Given the description of an element on the screen output the (x, y) to click on. 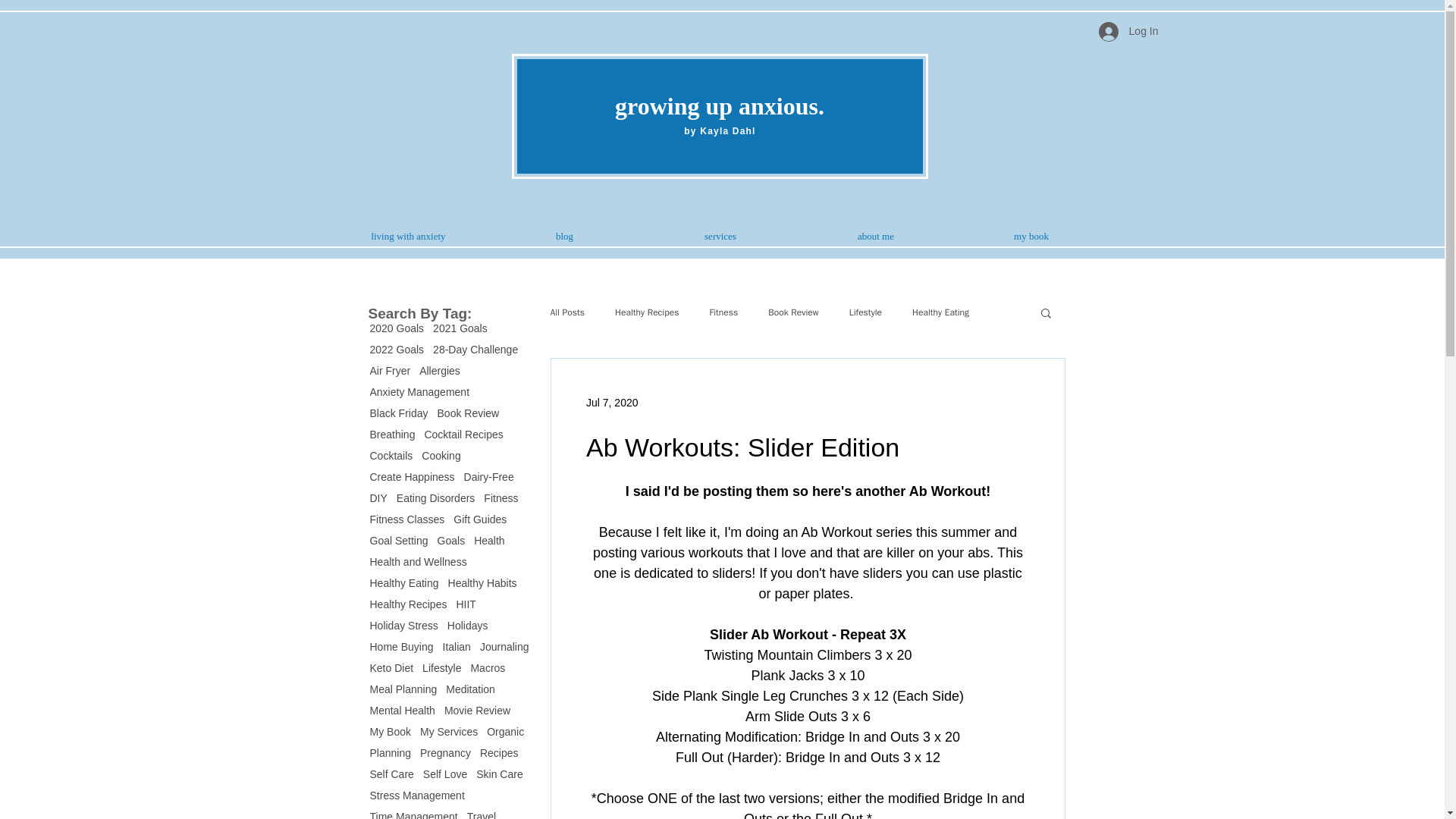
2021 Goals (459, 328)
Air Fryer (389, 370)
2020 Goals (397, 328)
Healthy Recipes (407, 604)
Goals (451, 540)
Cocktails (391, 455)
Healthy Habits (482, 582)
Allergies (439, 370)
Book Review (468, 413)
Cooking (441, 455)
about me (875, 235)
Eating Disorders (436, 498)
my book (1031, 235)
28-Day Challenge (475, 349)
Anxiety Management (419, 391)
